Given the description of an element on the screen output the (x, y) to click on. 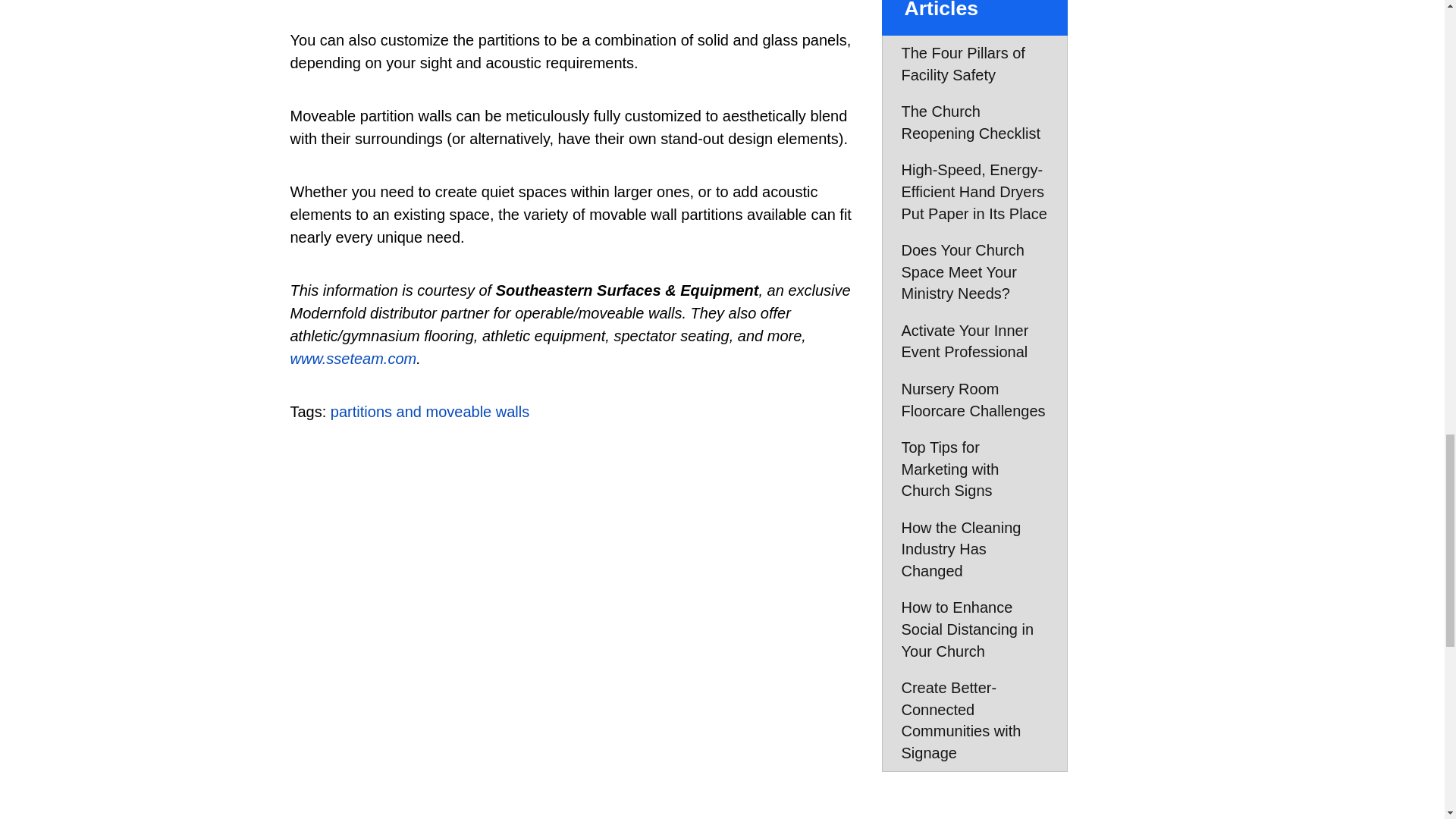
www.sseteam.com (352, 358)
partitions and moveable walls (429, 411)
The Four Pillars of Facility Safety (973, 64)
